Given the description of an element on the screen output the (x, y) to click on. 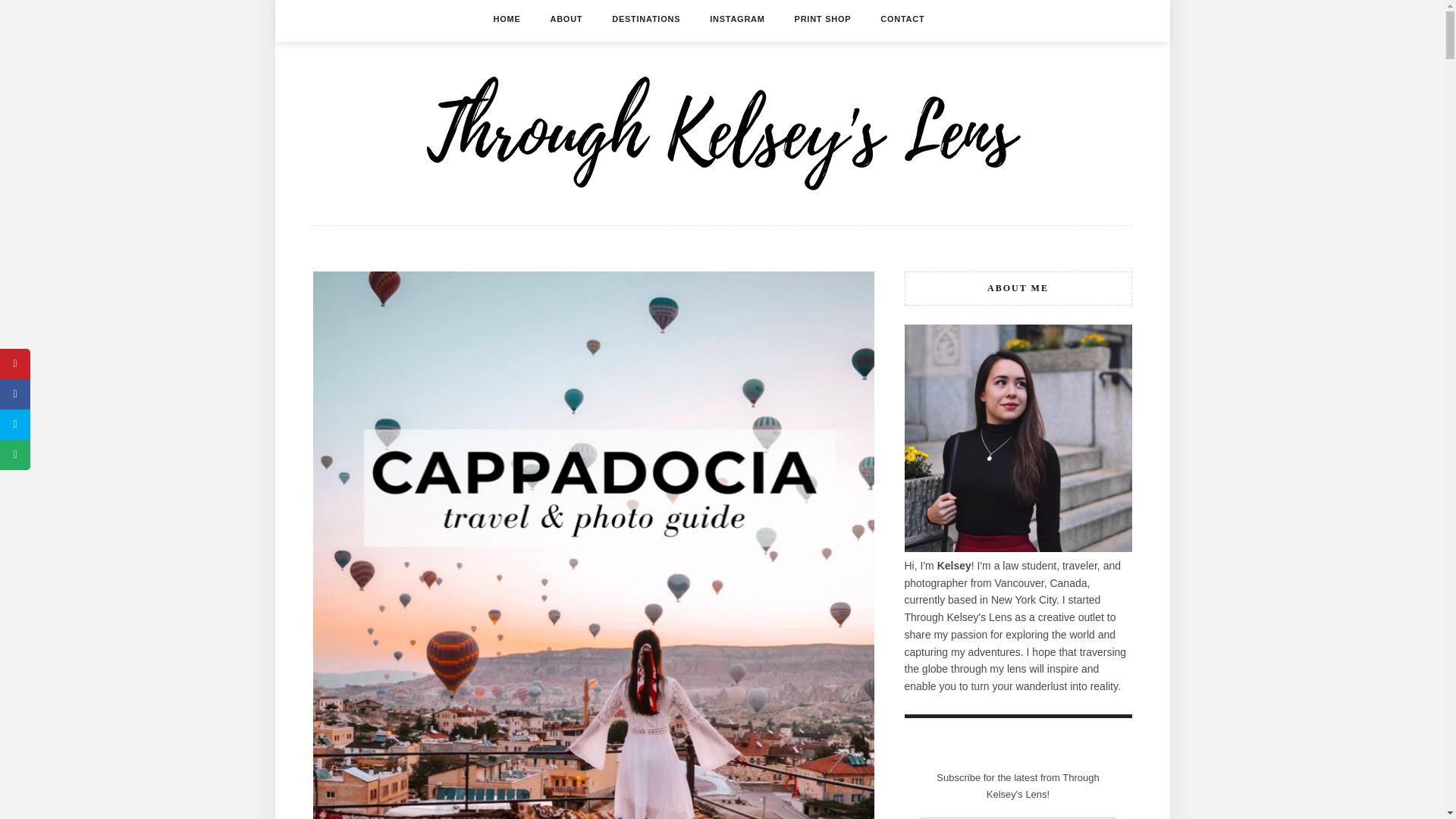
CONTACT (902, 18)
INSTAGRAM (737, 18)
PRINT SHOP (822, 18)
DESTINATIONS (645, 18)
